Given the description of an element on the screen output the (x, y) to click on. 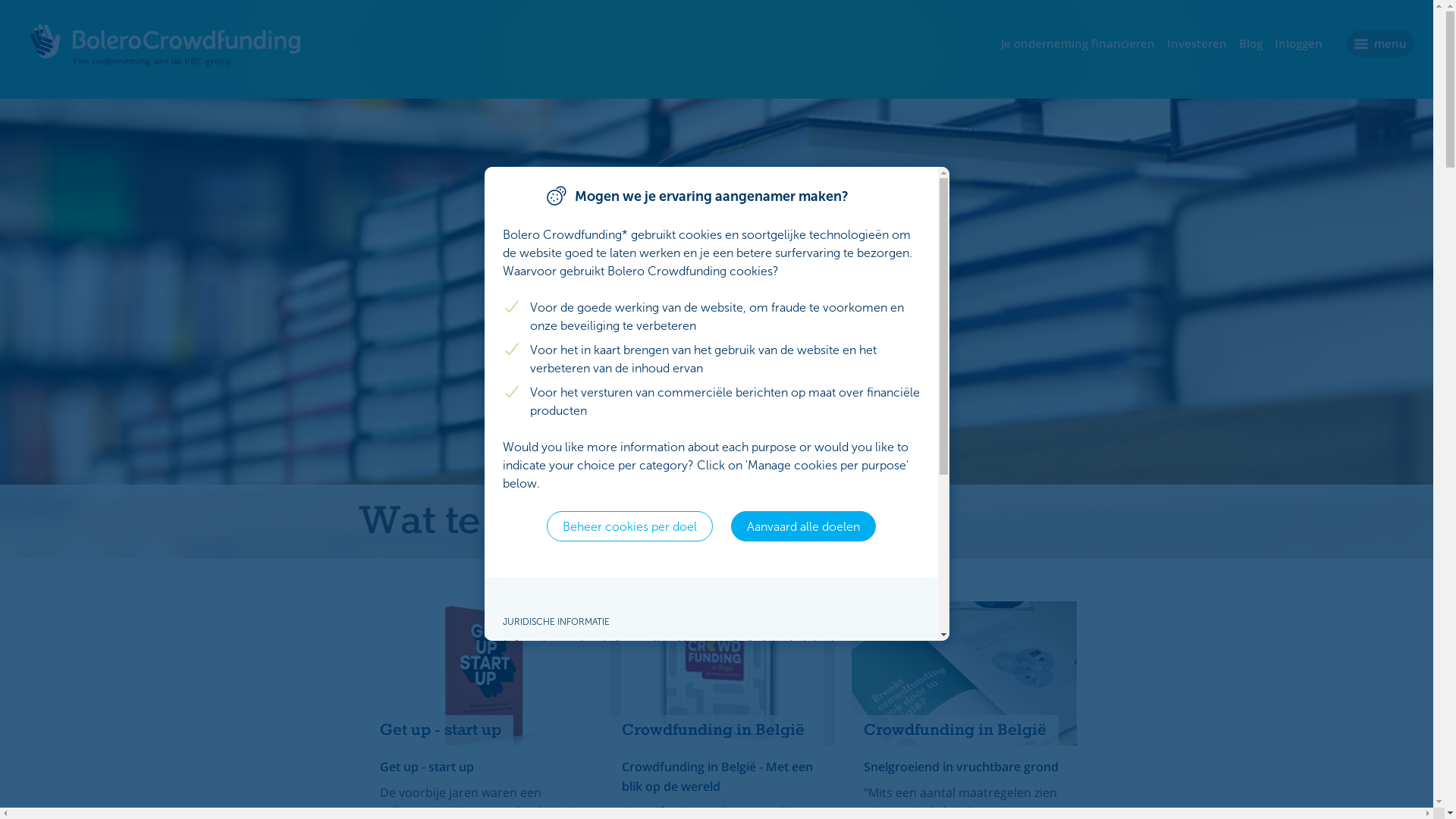
Blog Element type: text (1250, 43)
Investeren Element type: text (1196, 43)
menu Element type: text (1380, 43)
Je onderneming financieren Element type: text (1077, 43)
Inloggen Element type: text (1298, 43)
TrustArc Cookie Consent Manager Element type: hover (715, 403)
Een onderneming van de KBC-groep Element type: text (166, 49)
